Given the description of an element on the screen output the (x, y) to click on. 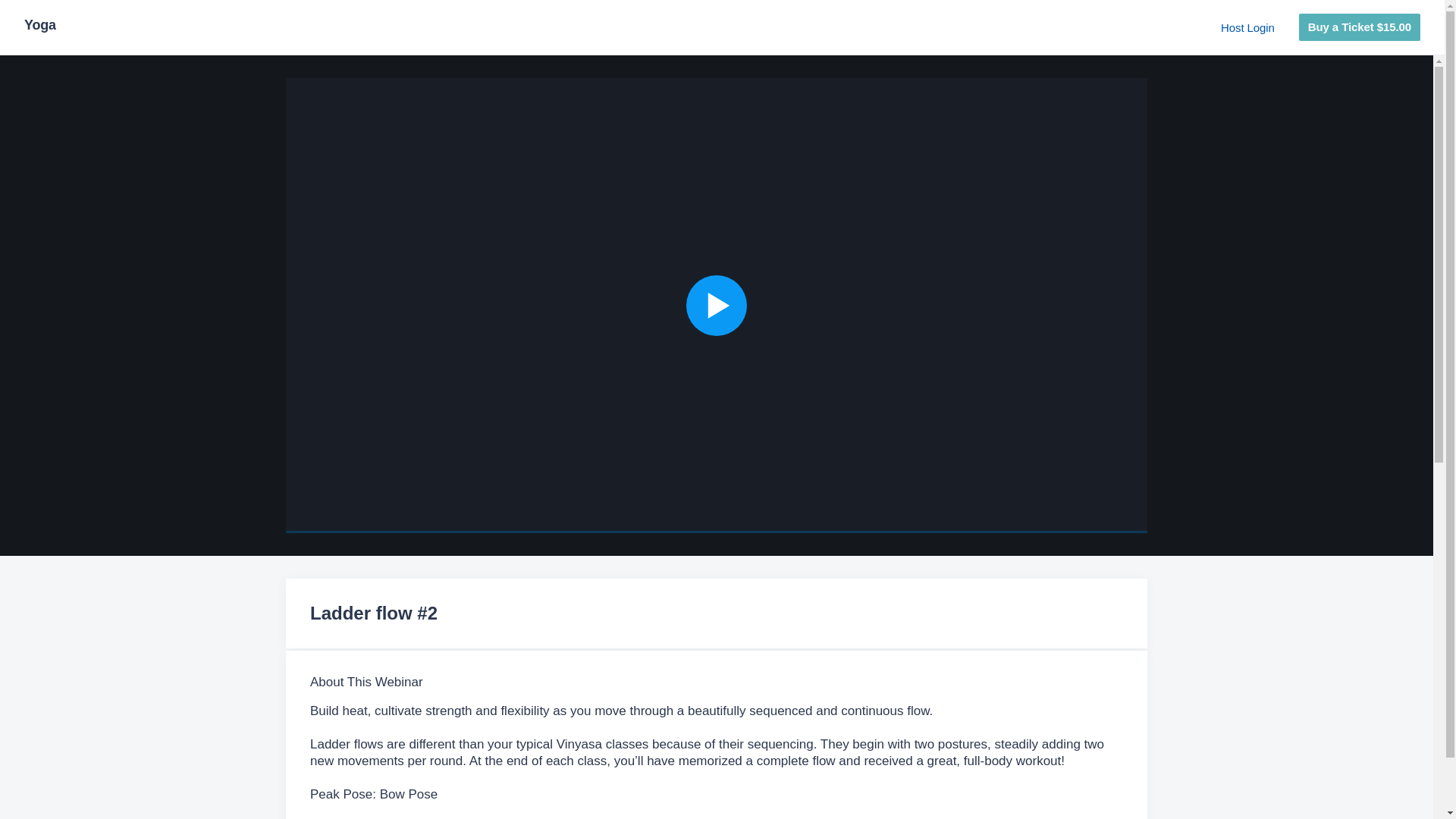
Host Login (1248, 27)
Yoga (40, 26)
